Given the description of an element on the screen output the (x, y) to click on. 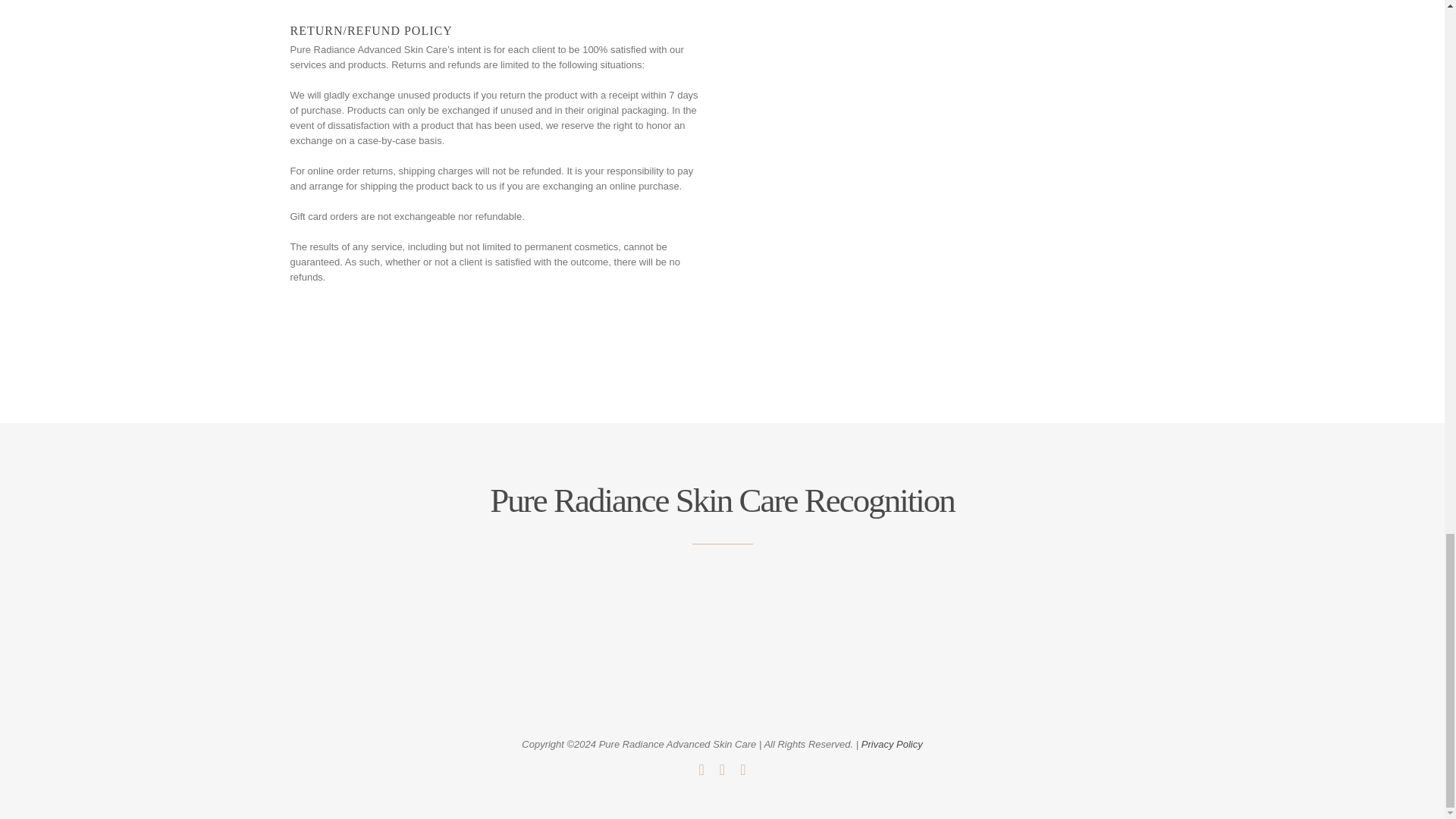
icon2-min (643, 619)
Privacy Policy (892, 744)
icon1-min (484, 619)
